Given the description of an element on the screen output the (x, y) to click on. 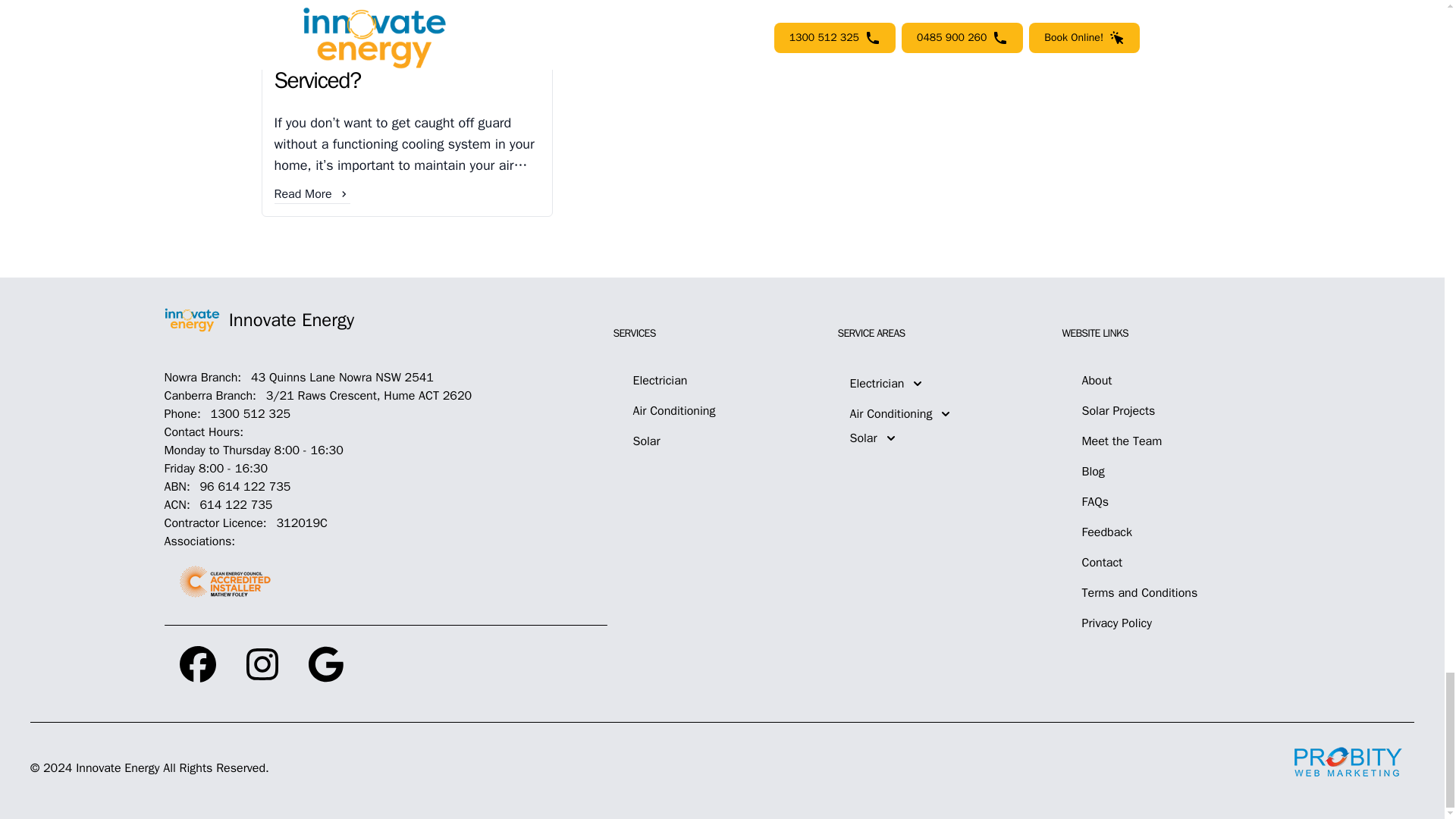
Facebook (197, 664)
Google (324, 664)
312019C (297, 523)
1300 512 325 (248, 413)
Innovate Energy (385, 319)
Instagram (262, 664)
614 122 735 (233, 505)
96 614 122 735 (242, 486)
